Given the description of an element on the screen output the (x, y) to click on. 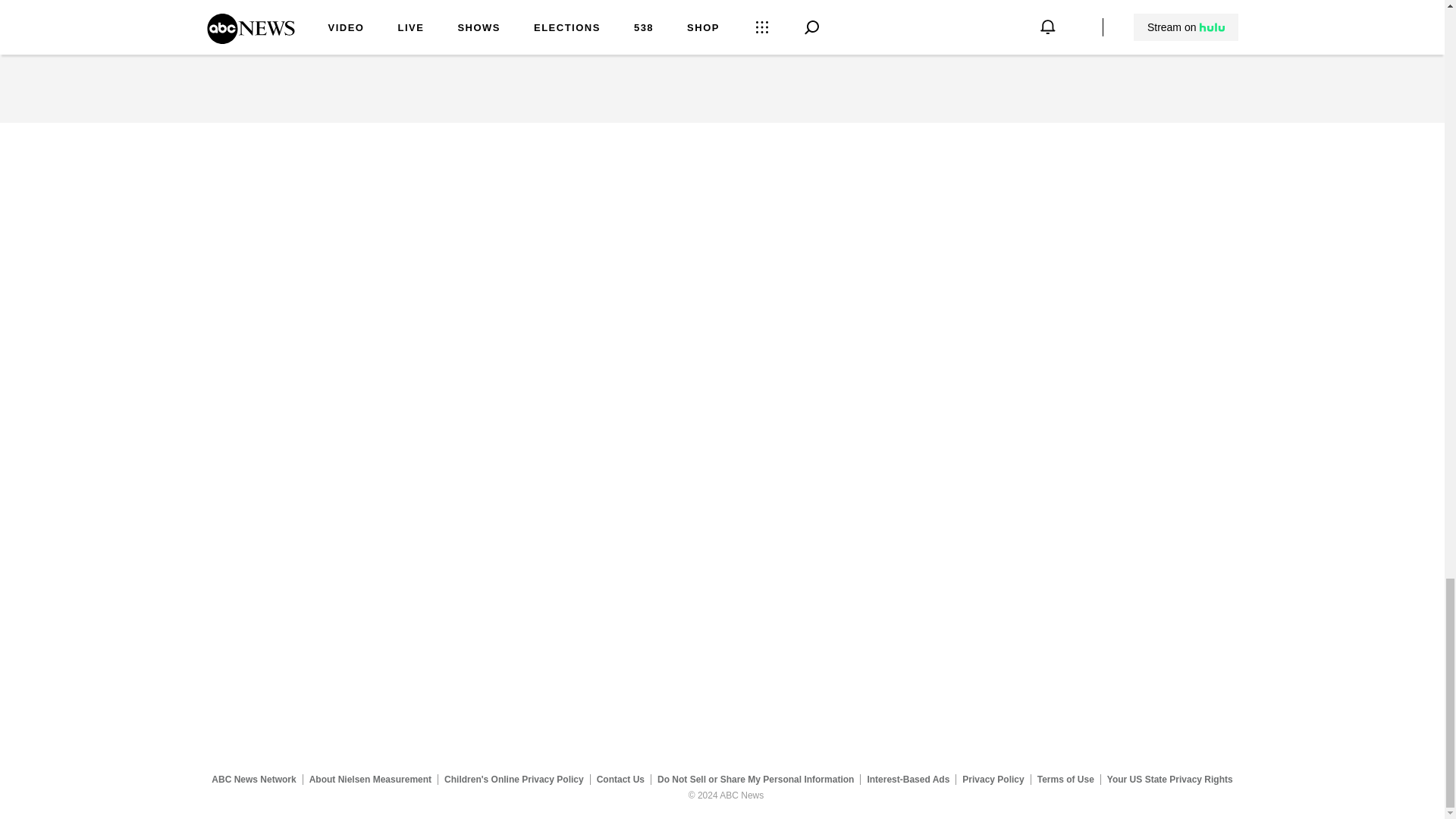
ABC News Network (253, 778)
Contact Us (620, 778)
Do Not Sell or Share My Personal Information (755, 778)
Your US State Privacy Rights (1169, 778)
Privacy Policy (993, 778)
Interest-Based Ads (908, 778)
Children's Online Privacy Policy (514, 778)
Terms of Use (1065, 778)
About Nielsen Measurement (370, 778)
